Given the description of an element on the screen output the (x, y) to click on. 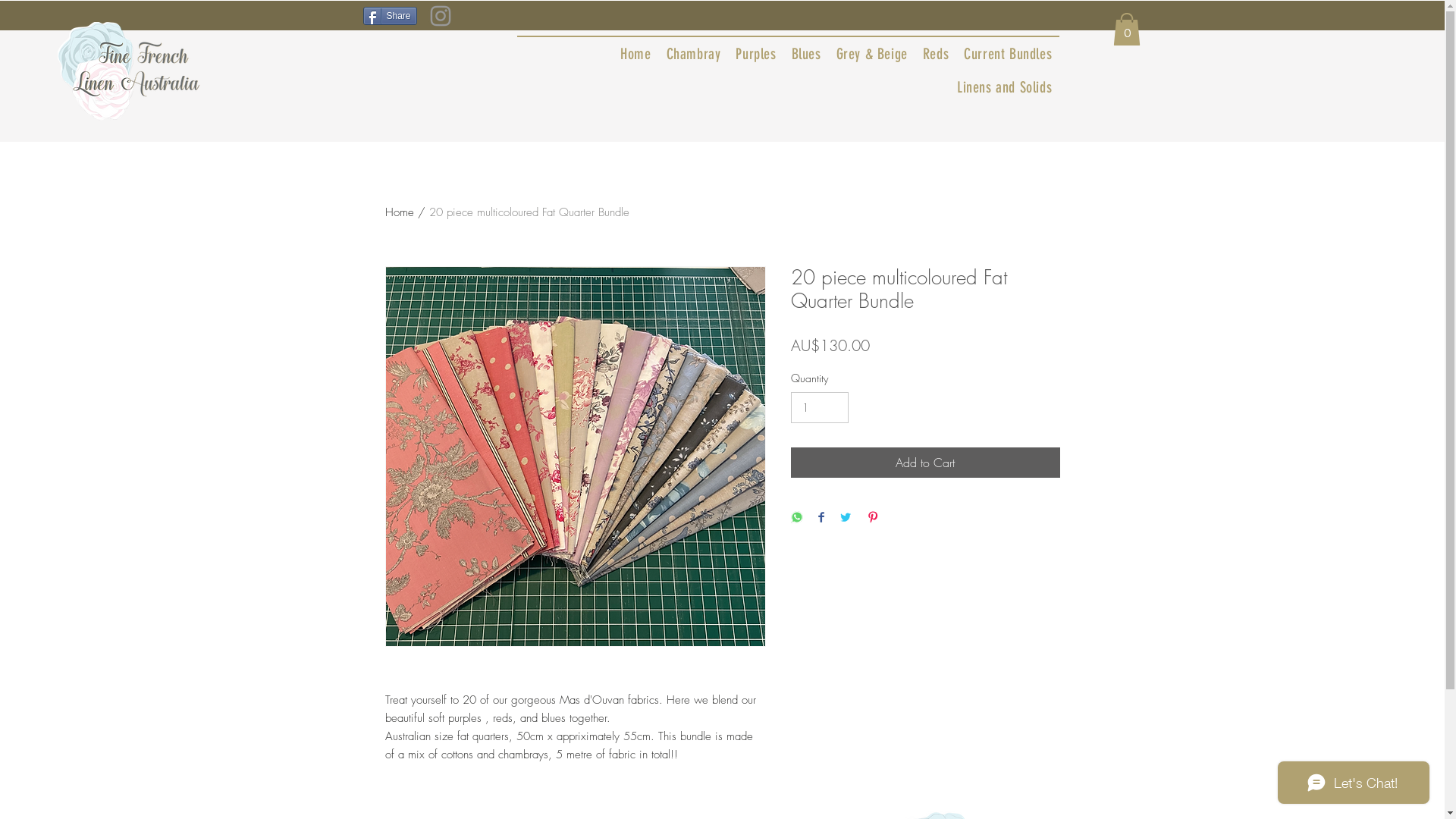
Current Bundles Element type: text (1007, 53)
Home Element type: text (399, 211)
Purples Element type: text (755, 53)
Grey & Beige Element type: text (871, 53)
20 piece multicoloured Fat Quarter Bundle Element type: text (529, 211)
Chambray Element type: text (693, 53)
Blues Element type: text (806, 53)
Reds Element type: text (935, 53)
0 Element type: text (1126, 28)
Share Element type: text (389, 15)
Home Element type: text (635, 53)
Linens and Solids Element type: text (1004, 86)
Add to Cart Element type: text (924, 462)
Fine French Linen Australia Element type: hover (128, 70)
